Given the description of an element on the screen output the (x, y) to click on. 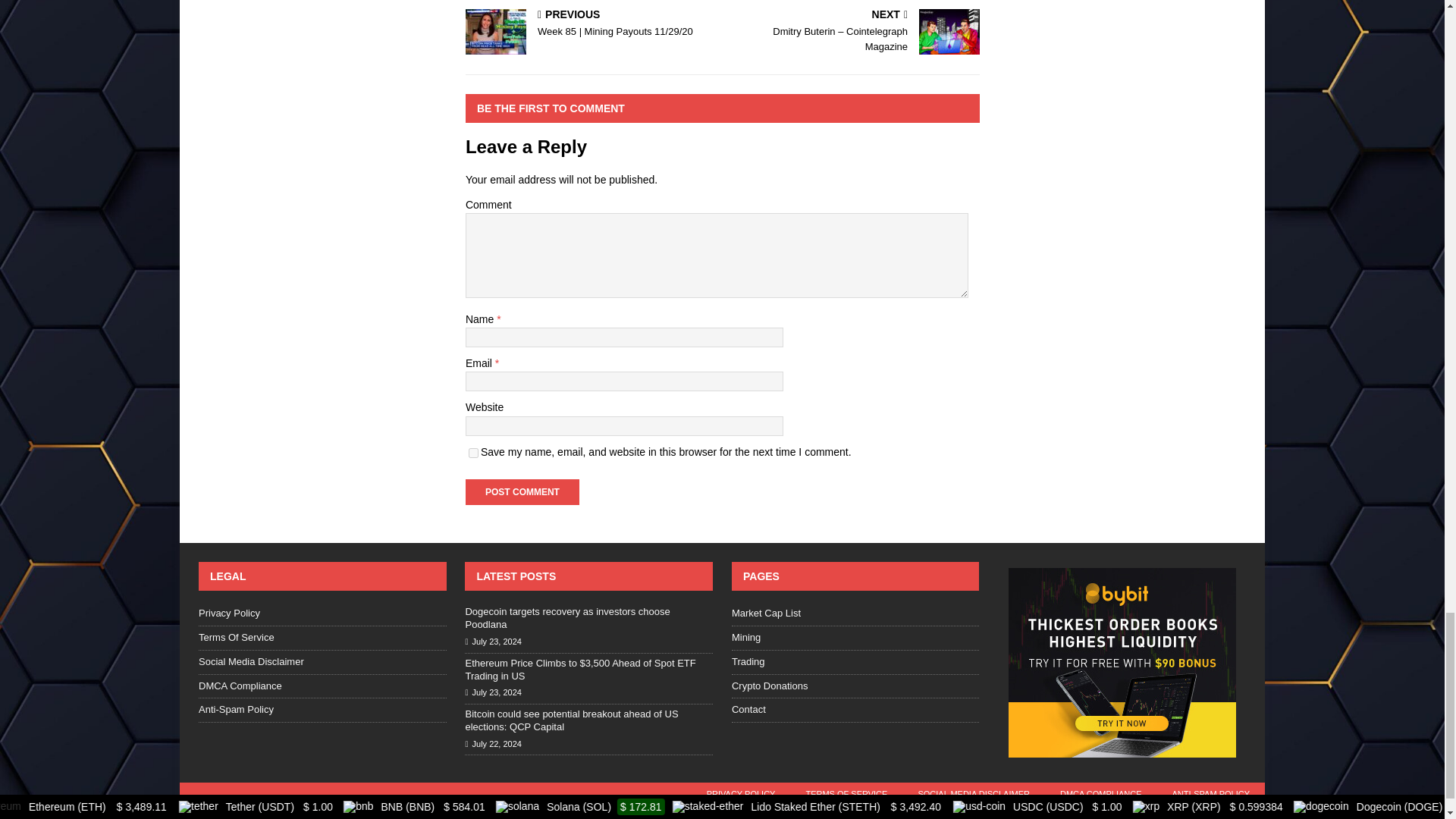
yes (473, 452)
Post Comment (522, 492)
